Given the description of an element on the screen output the (x, y) to click on. 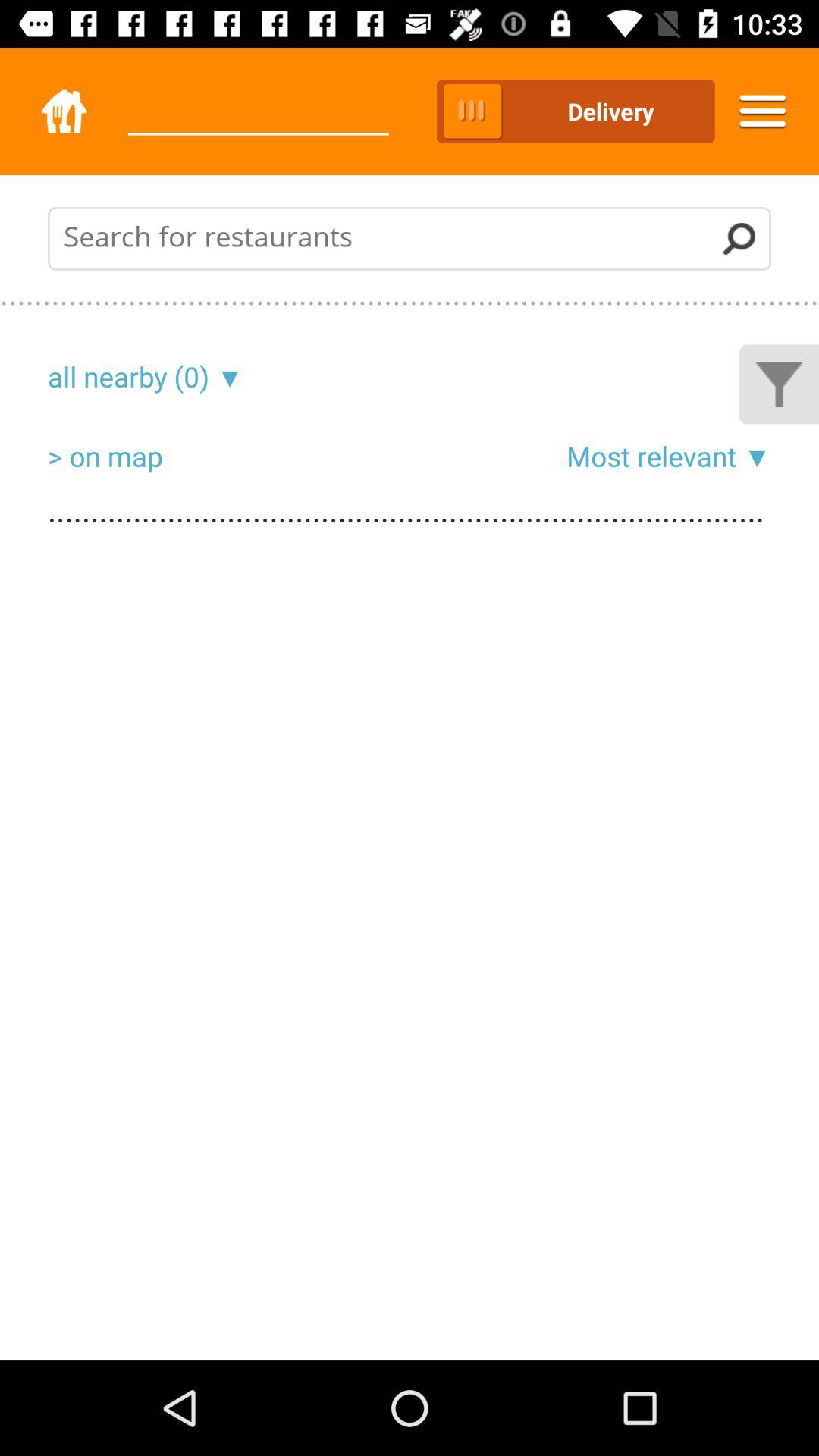
tap item above .................................................................................................................................................................................................................................................................................................................................................................................................................................................................................................... icon (651, 455)
